Given the description of an element on the screen output the (x, y) to click on. 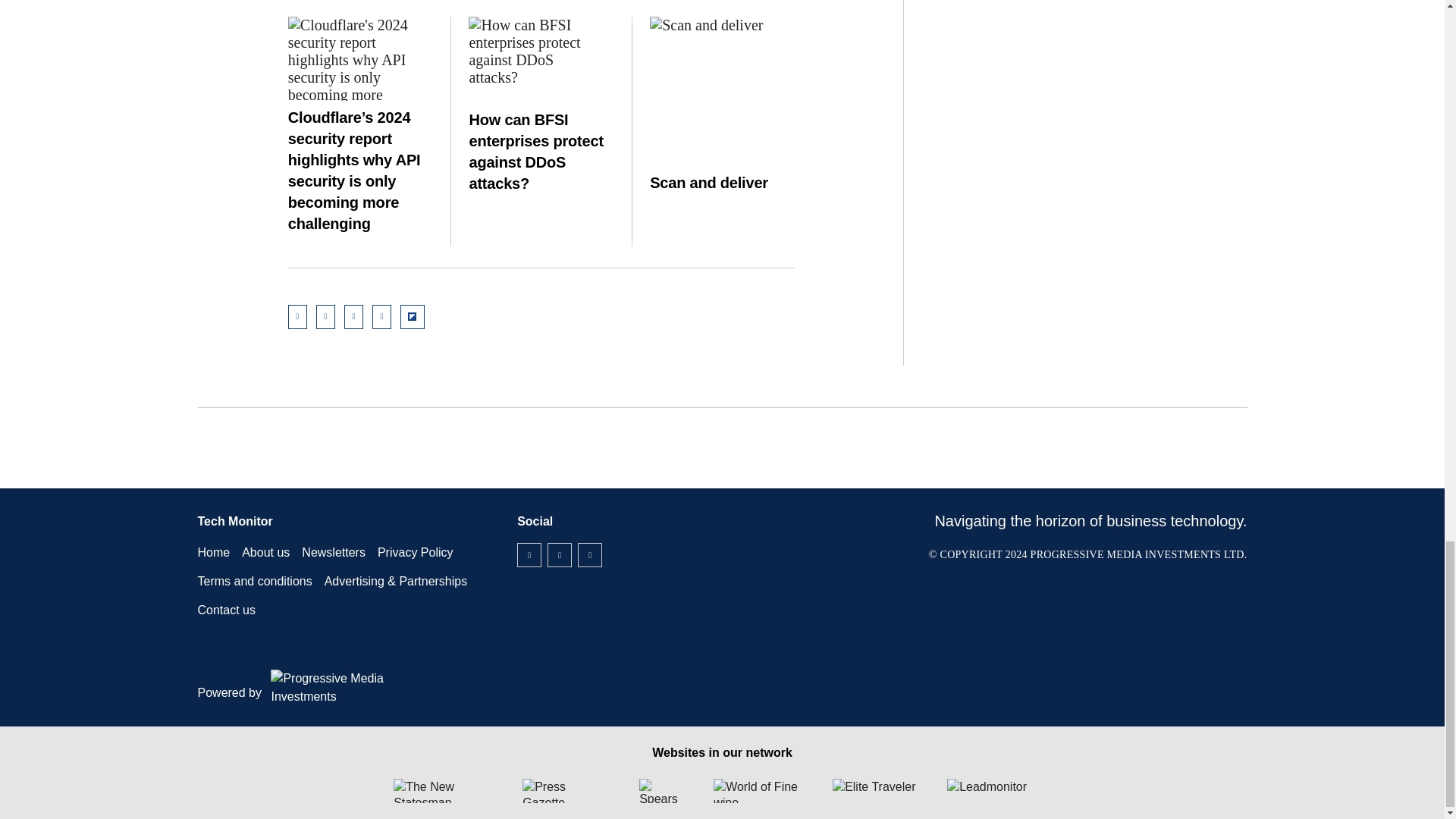
Scan and deliver (721, 70)
Share on Flipboard (412, 316)
